Given the description of an element on the screen output the (x, y) to click on. 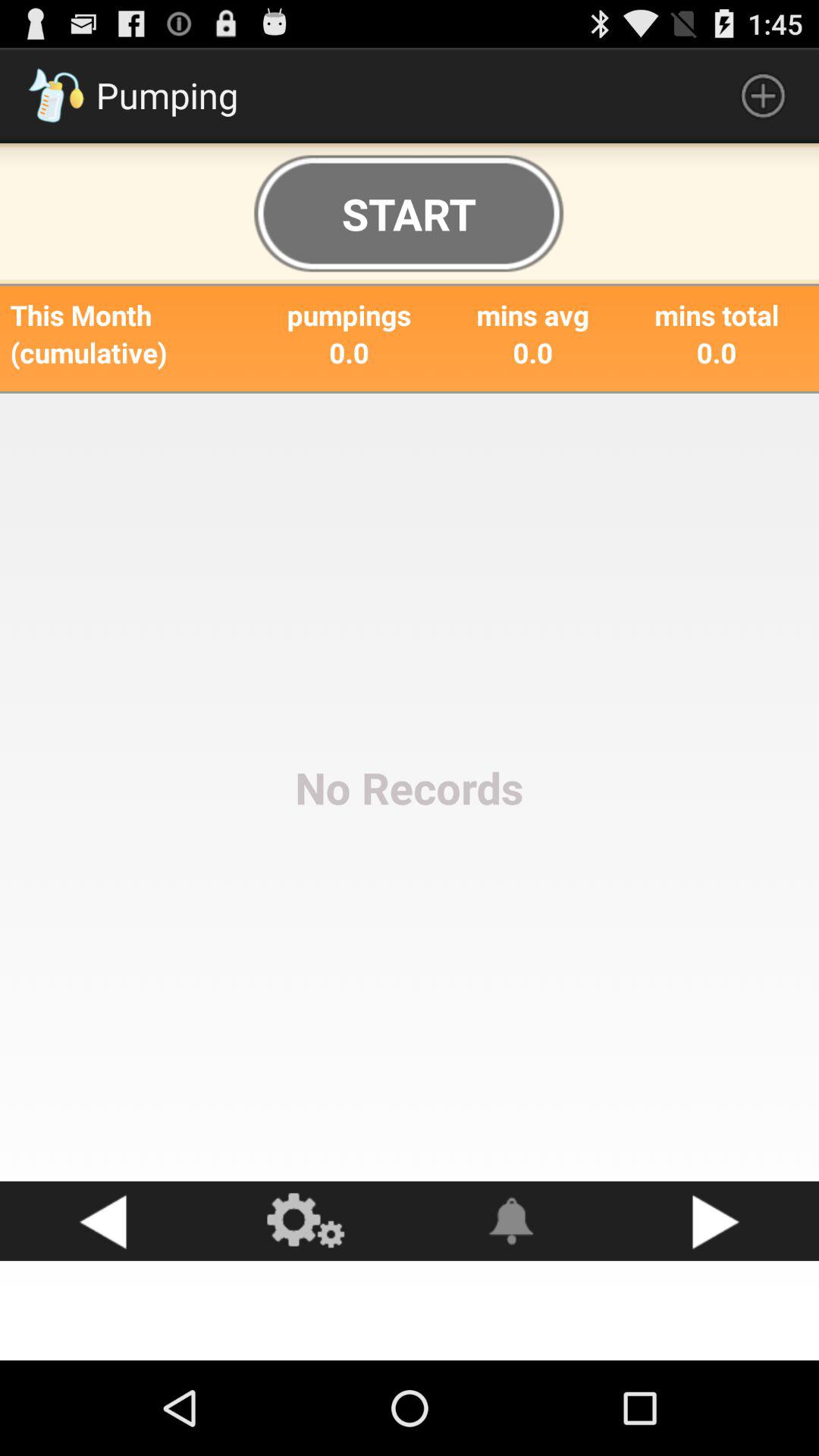
press the app below the no records icon (306, 1220)
